Given the description of an element on the screen output the (x, y) to click on. 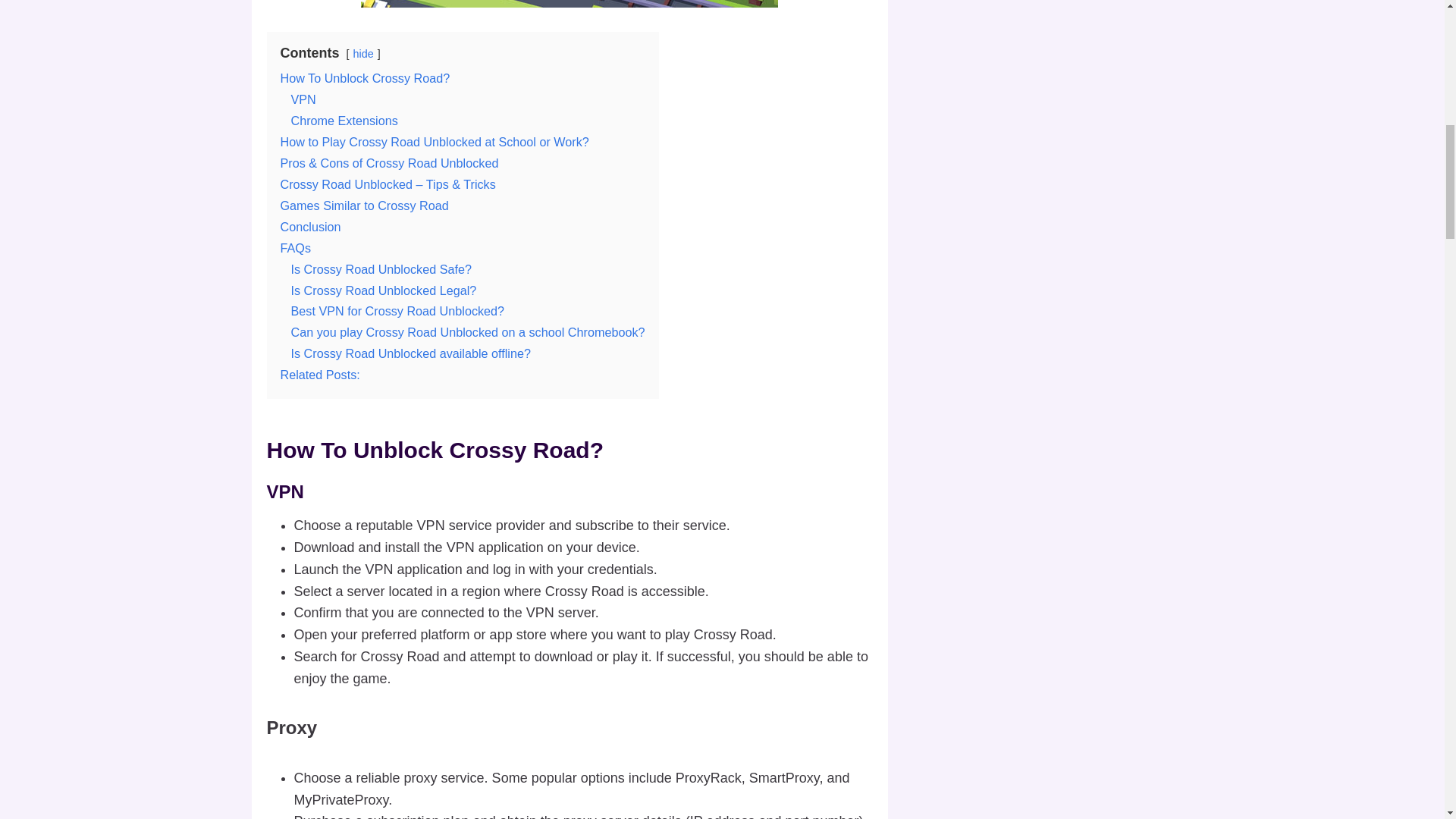
hide (363, 53)
How To Unblock Crossy Road? (365, 78)
VPN (303, 99)
